Given the description of an element on the screen output the (x, y) to click on. 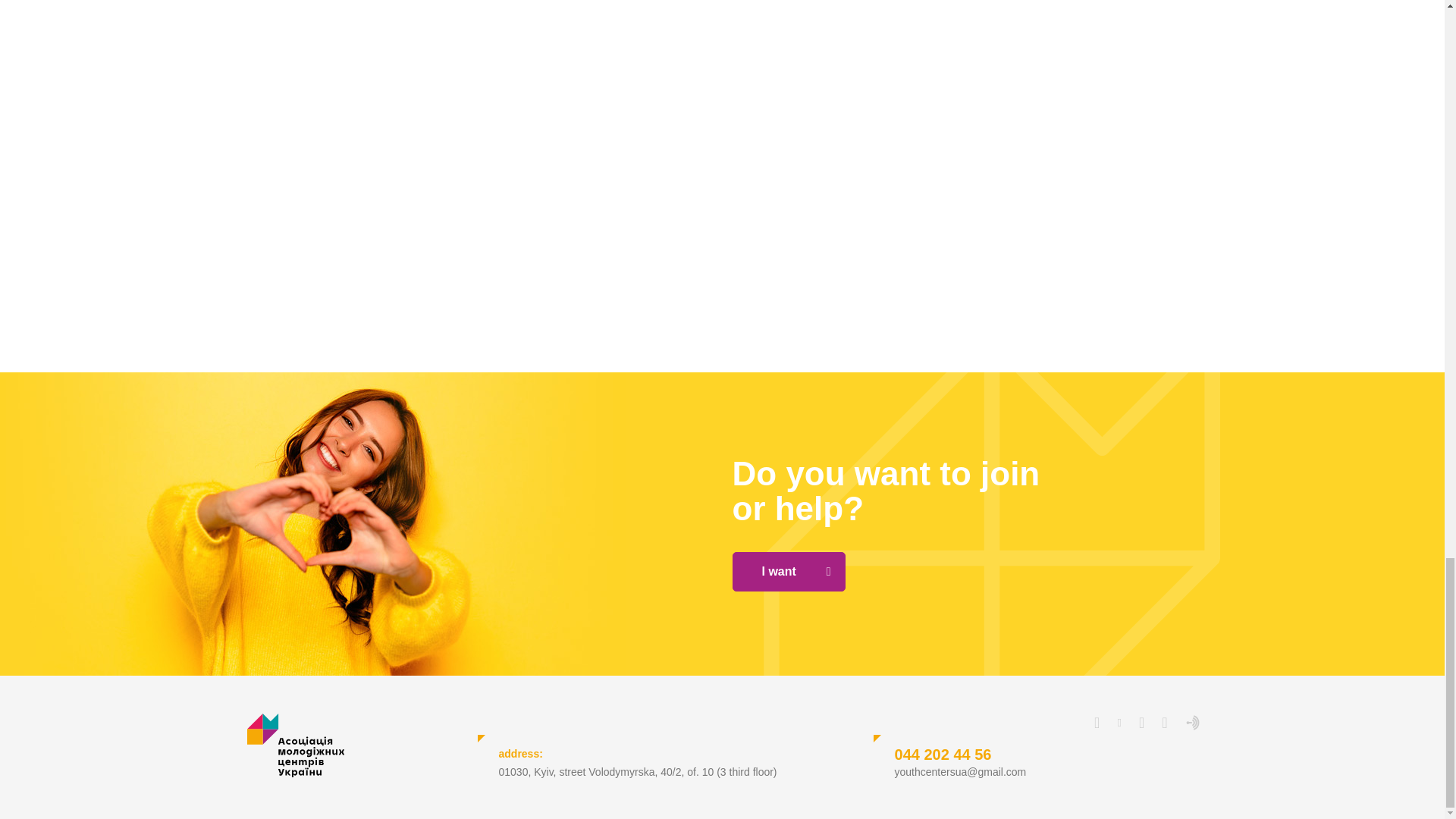
044 202 44 56 (943, 754)
I want (788, 571)
